Given the description of an element on the screen output the (x, y) to click on. 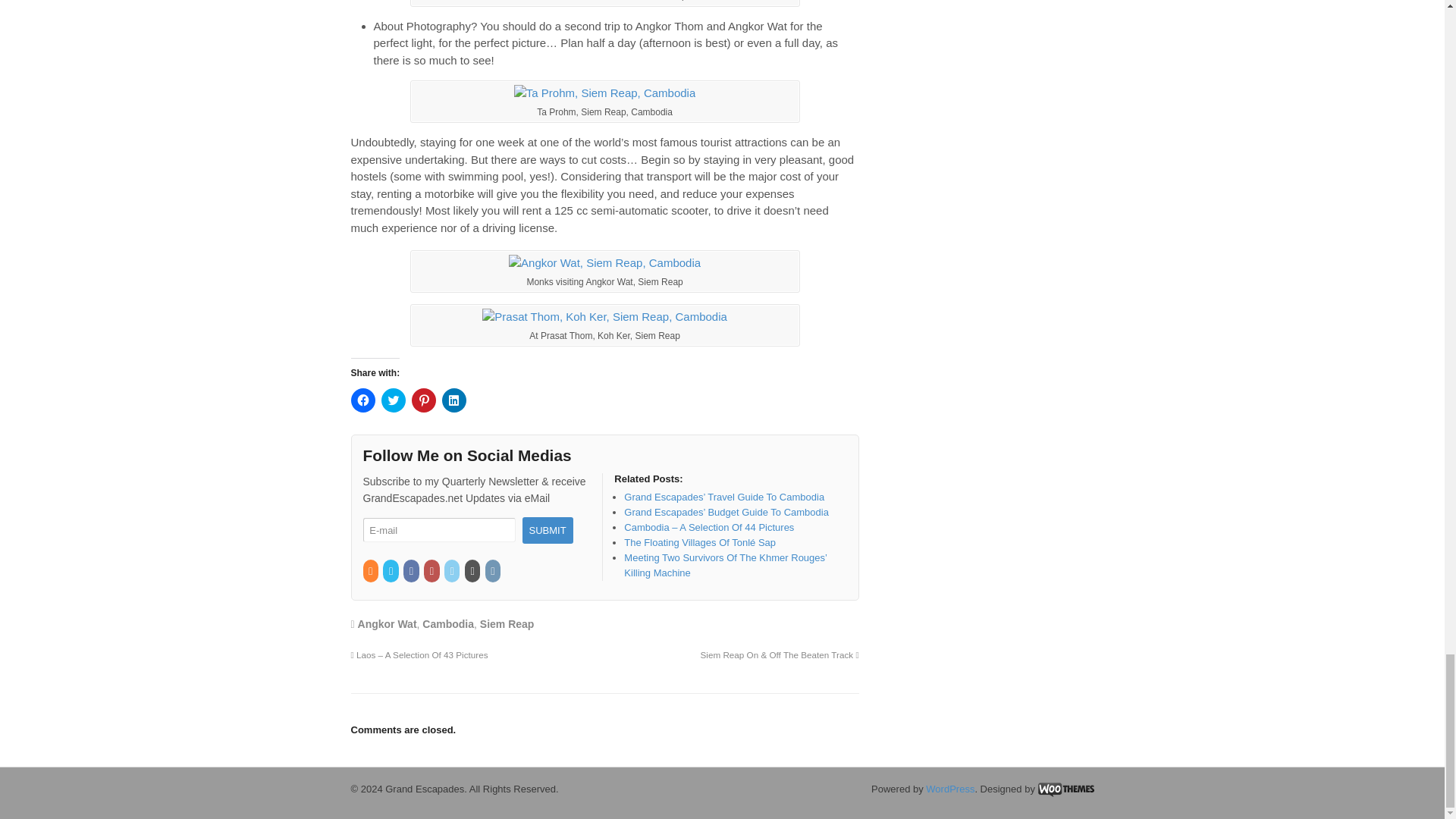
Click to share on Pinterest (422, 400)
E-mail (438, 529)
Click to share on Twitter (392, 400)
Click to share on Facebook (362, 400)
Submit (546, 529)
Click to share on LinkedIn (453, 400)
